Given the description of an element on the screen output the (x, y) to click on. 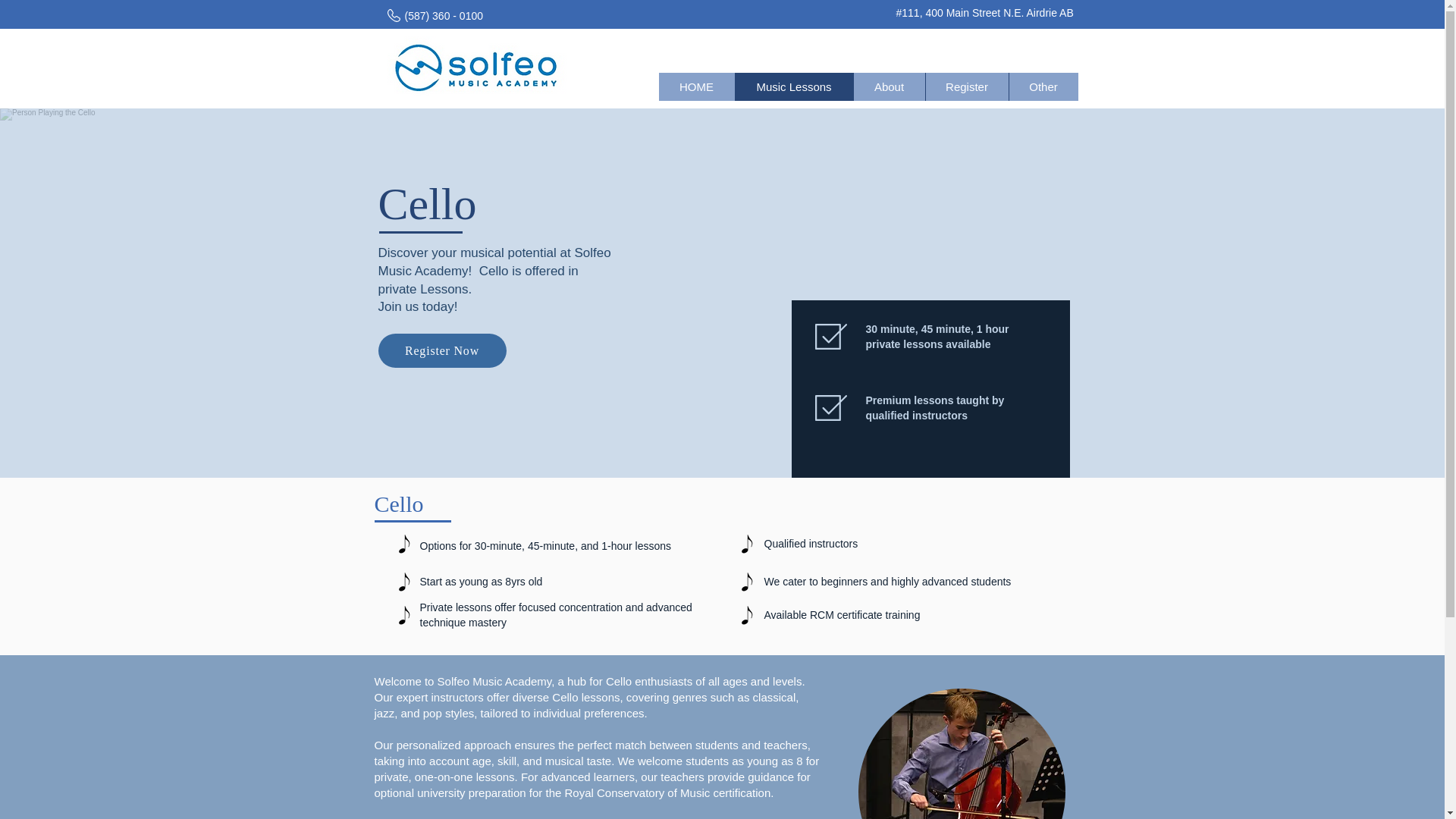
PerformanceCello.png (962, 753)
Register Now (441, 350)
About (887, 86)
HOME (695, 86)
Register (966, 86)
Music Lessons (792, 86)
